Given the description of an element on the screen output the (x, y) to click on. 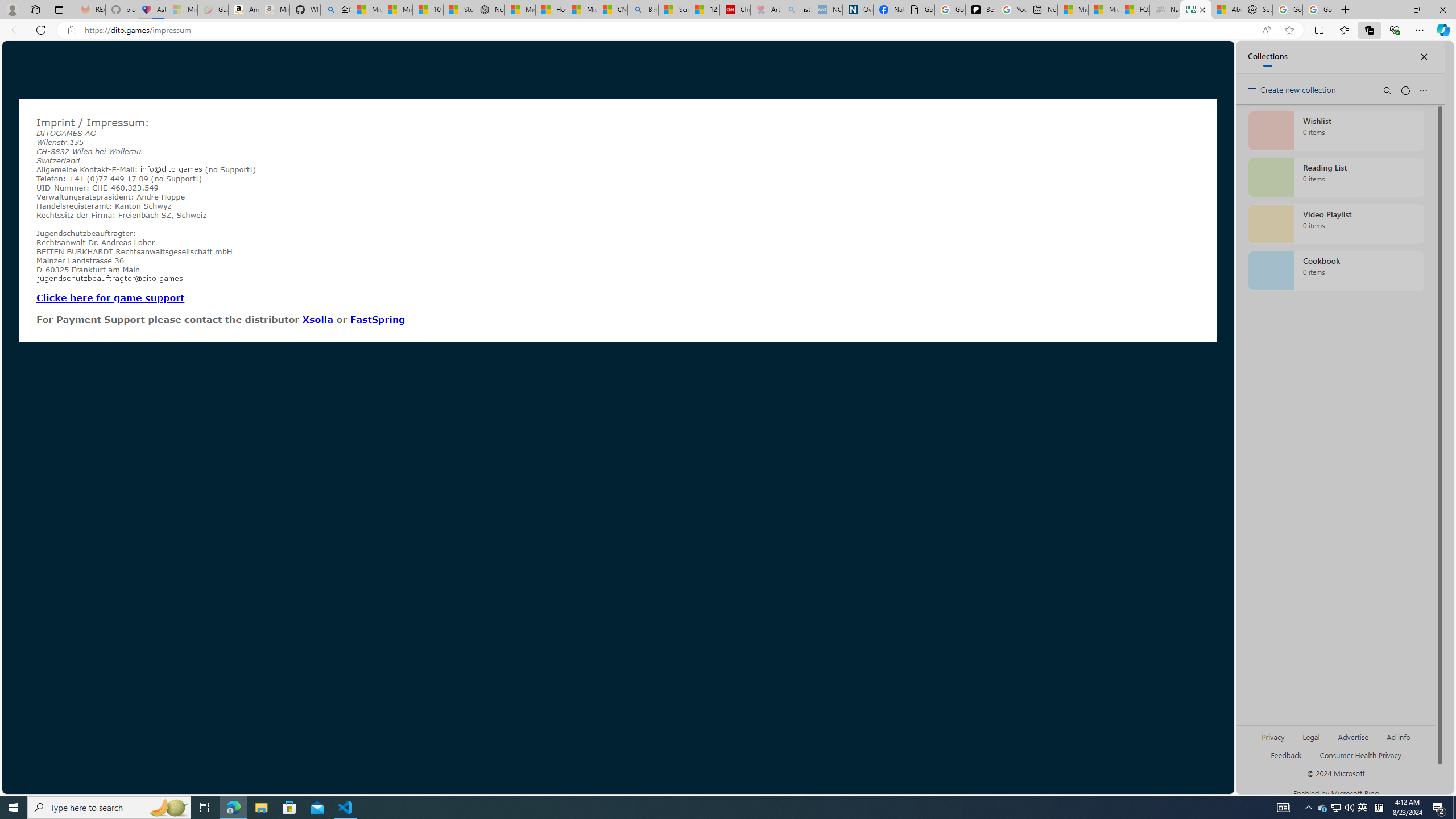
AutomationID: genId96 (1285, 759)
CNN - MSN (611, 9)
How I Got Rid of Microsoft Edge's Unnecessary Features (549, 9)
Google Analytics Opt-out Browser Add-on Download Page (919, 9)
12 Popular Science Lies that Must be Corrected (704, 9)
